Given the description of an element on the screen output the (x, y) to click on. 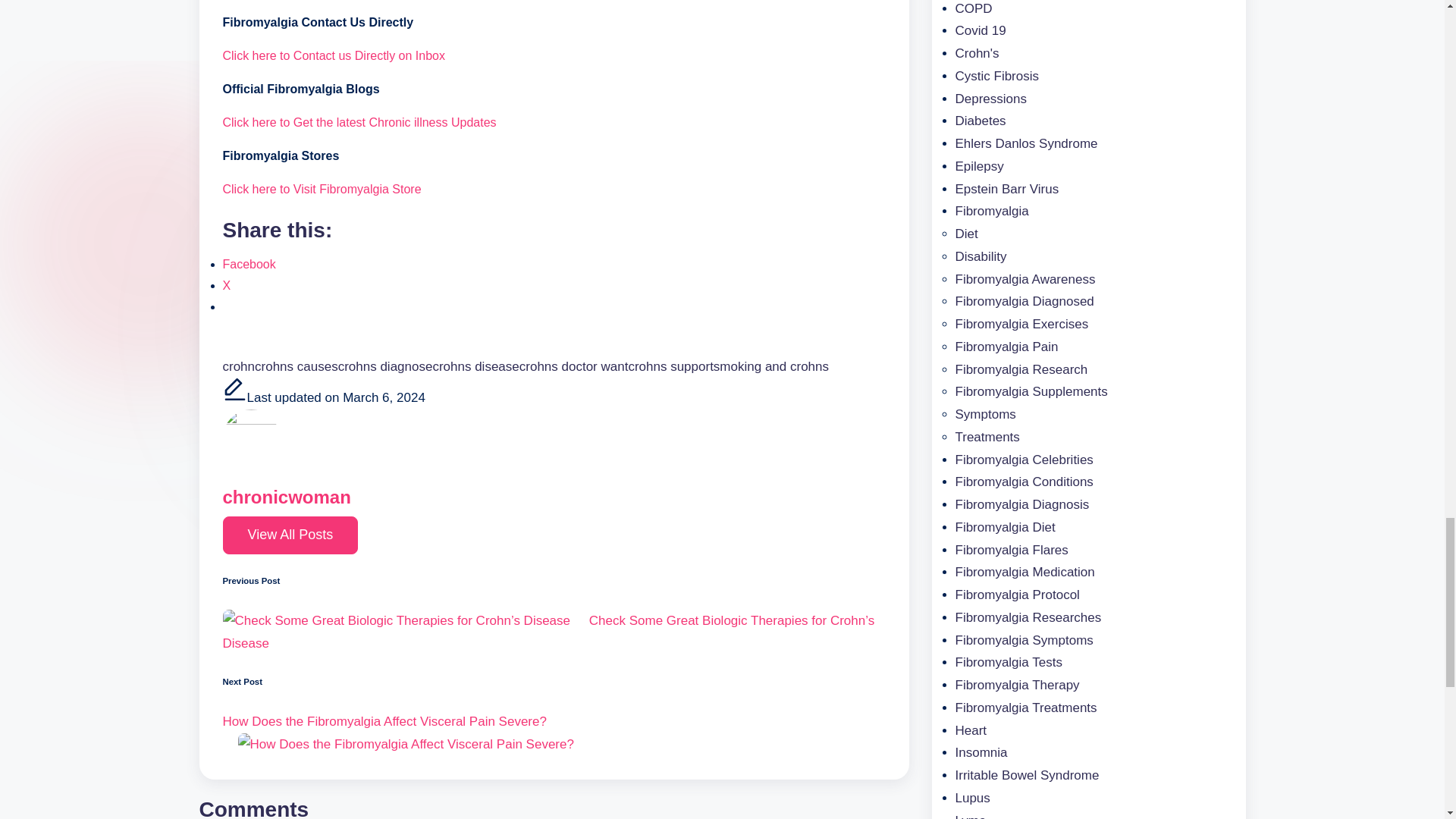
Click to share on Facebook (249, 264)
Click to share on X (226, 285)
